Given the description of an element on the screen output the (x, y) to click on. 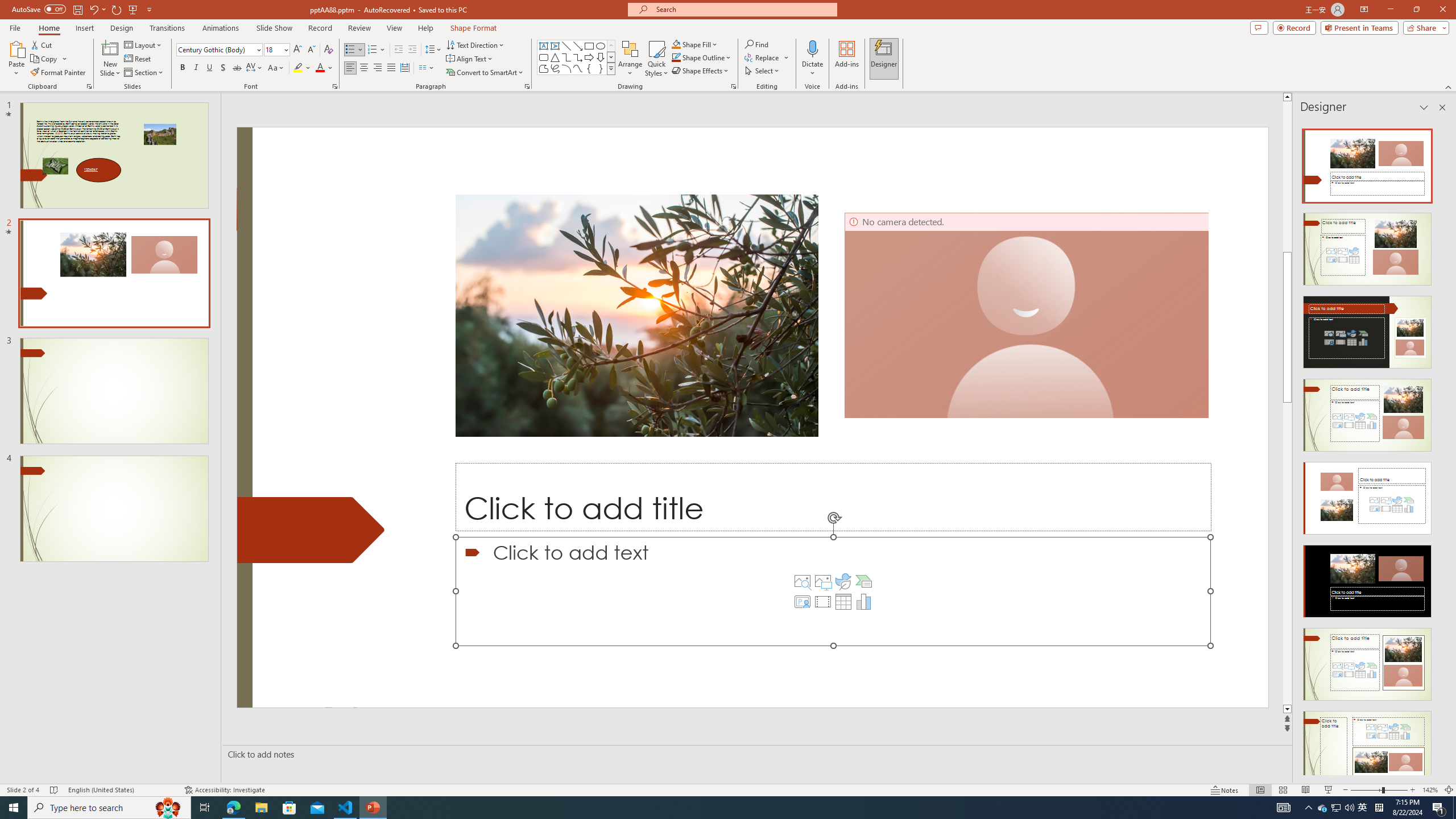
Content Placeholder (832, 591)
Shape Format (473, 28)
Decorative Locked (310, 530)
Recommended Design: Design Idea (1366, 162)
Arc (566, 68)
Numbering (372, 49)
Freeform: Scribble (554, 68)
Connector: Elbow Arrow (577, 57)
Distributed (404, 67)
